Given the description of an element on the screen output the (x, y) to click on. 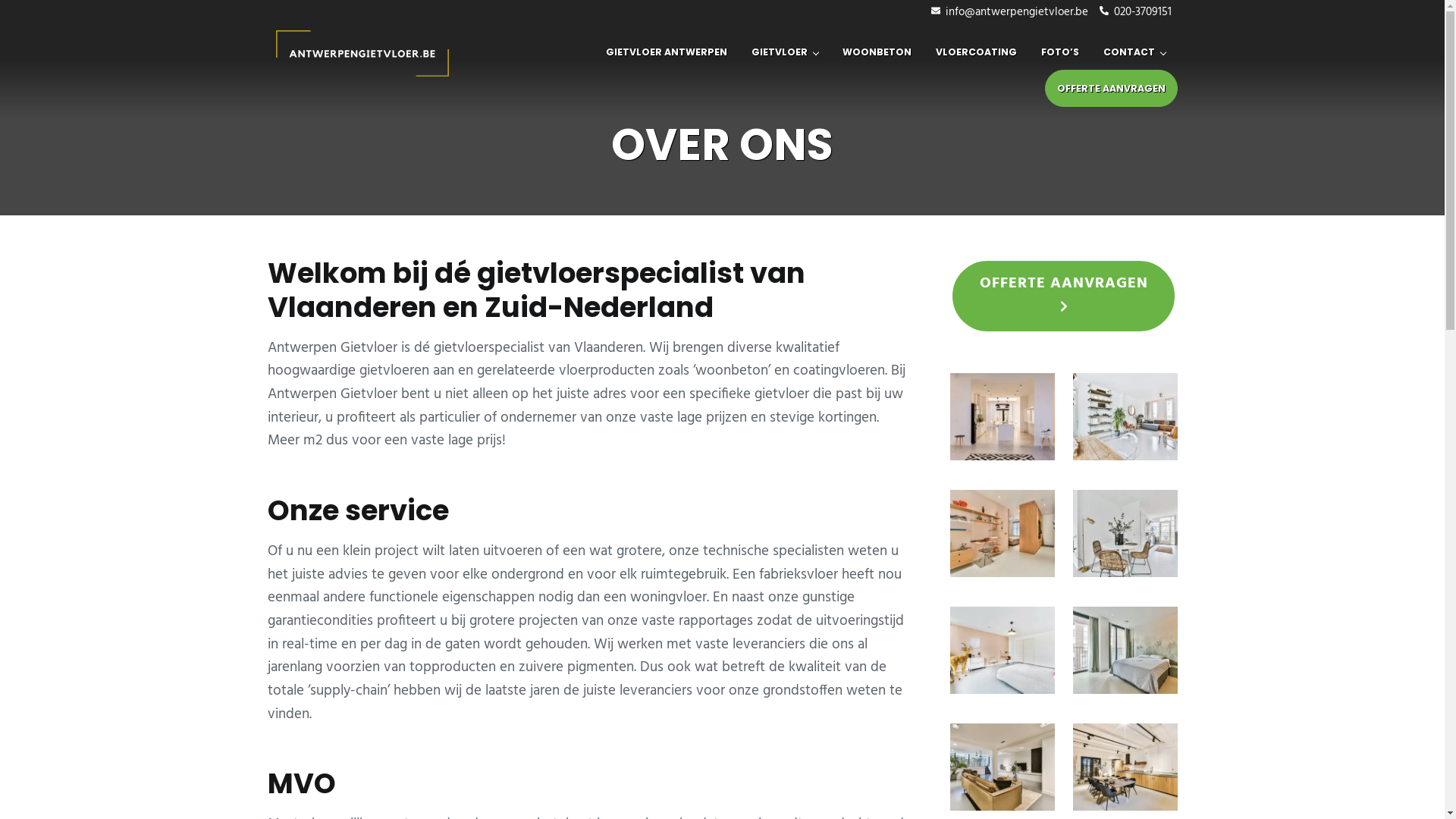
VLOERCOATING Element type: text (976, 51)
GIETVLOER ANTWERPEN Element type: text (665, 51)
WOONBETON Element type: text (875, 51)
020-3709151 Element type: text (1135, 12)
Door naar de hoofd inhoud Element type: text (0, 0)
info@antwerpengietvloer.be Element type: text (1009, 12)
OFFERTE AANVRAGEN Element type: text (1063, 295)
GIETVLOER Element type: text (783, 51)
OFFERTE AANVRAGEN Element type: text (1110, 87)
CONTACT Element type: text (1133, 51)
